Given the description of an element on the screen output the (x, y) to click on. 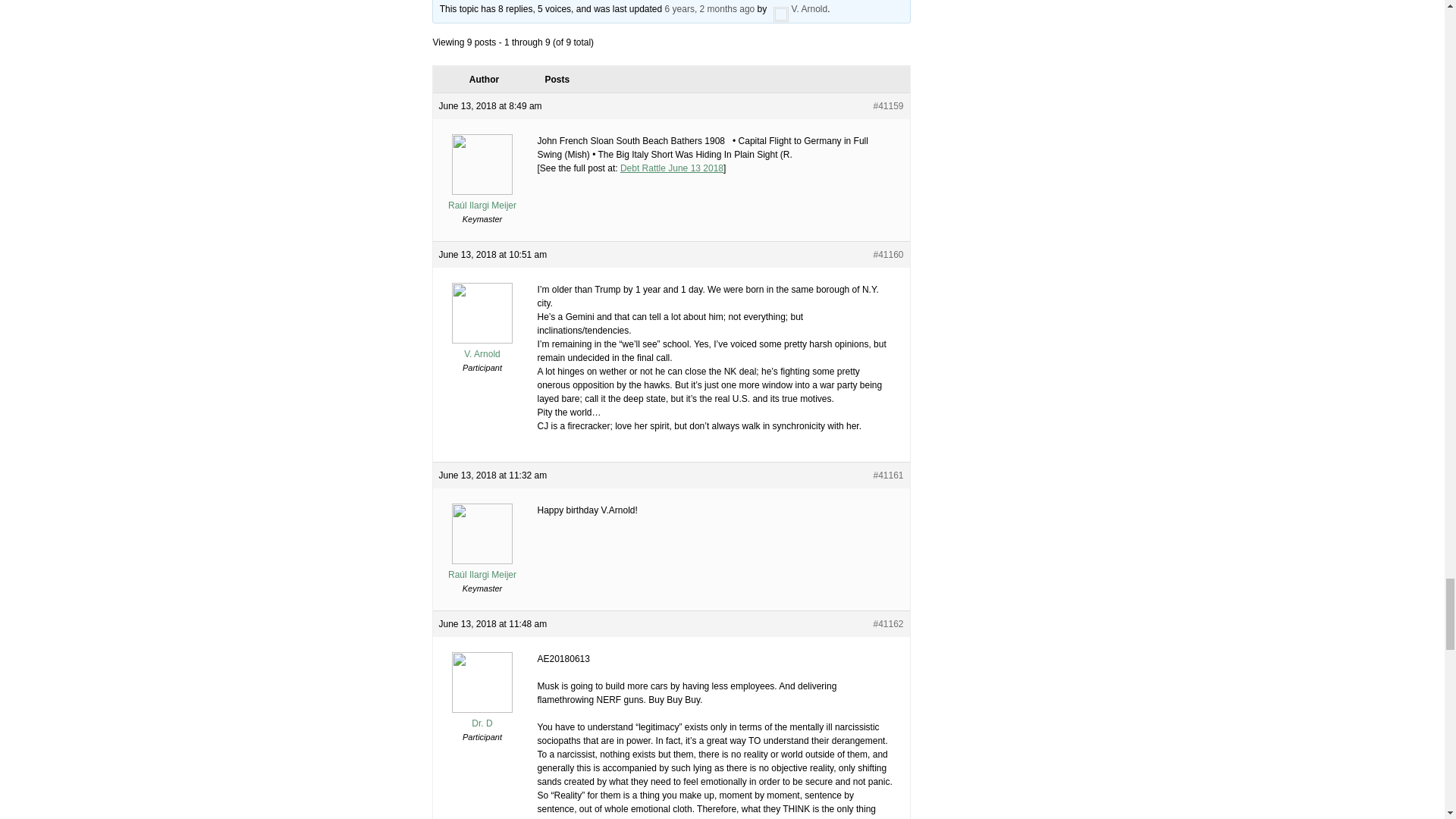
Reply To: Debt Rattle June 13 2018 (710, 9)
View V. Arnold's profile (799, 9)
View V. Arnold's profile (481, 347)
View Dr. D's profile (481, 717)
